Given the description of an element on the screen output the (x, y) to click on. 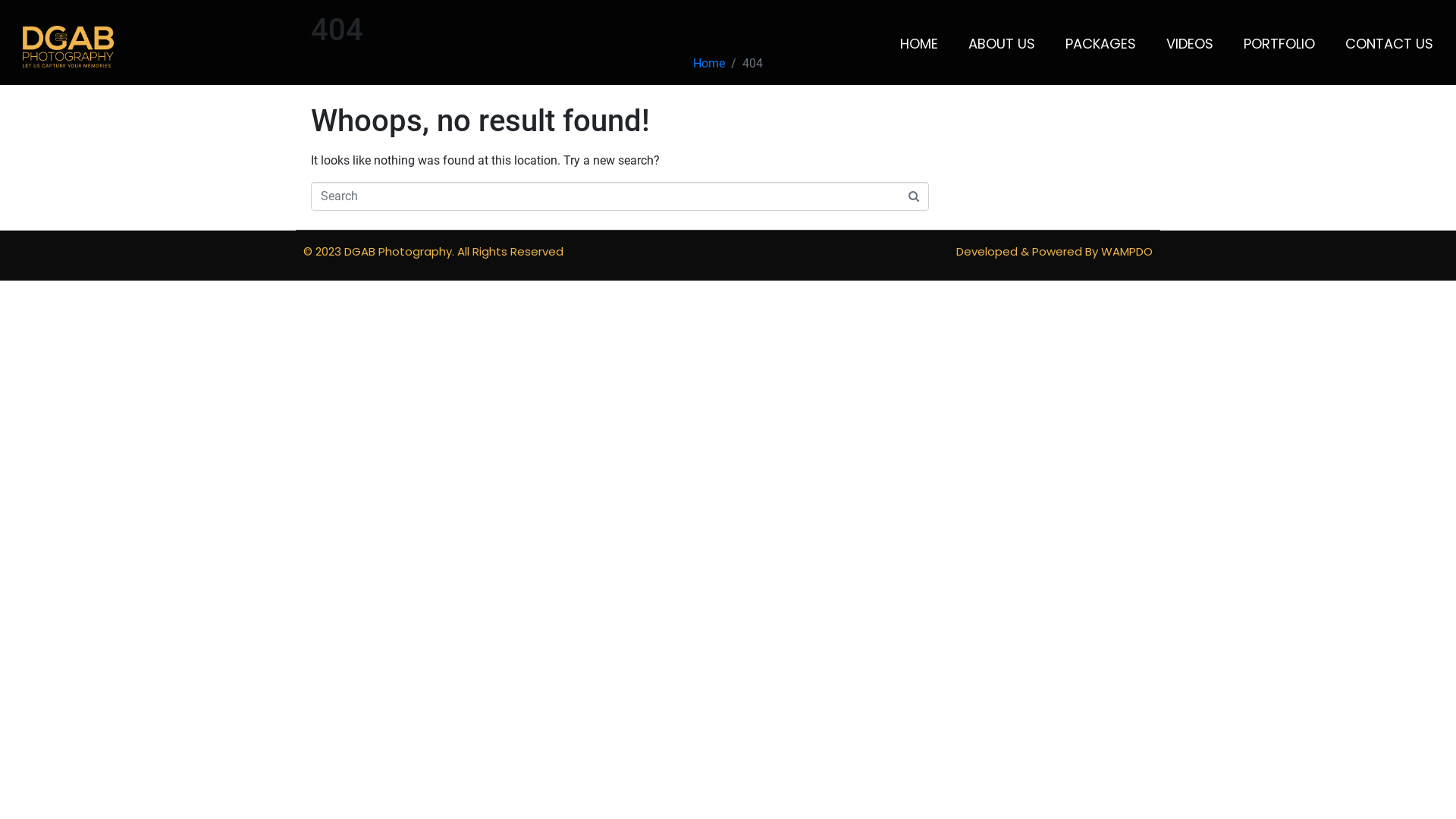
PORTFOLIO Element type: text (1279, 43)
CONTACT US Element type: text (1389, 43)
VIDEOS Element type: text (1189, 43)
HOME Element type: text (918, 43)
PACKAGES Element type: text (1100, 43)
WAMPDO Element type: text (1126, 251)
Home Element type: text (708, 63)
ABOUT US Element type: text (1001, 43)
